Given the description of an element on the screen output the (x, y) to click on. 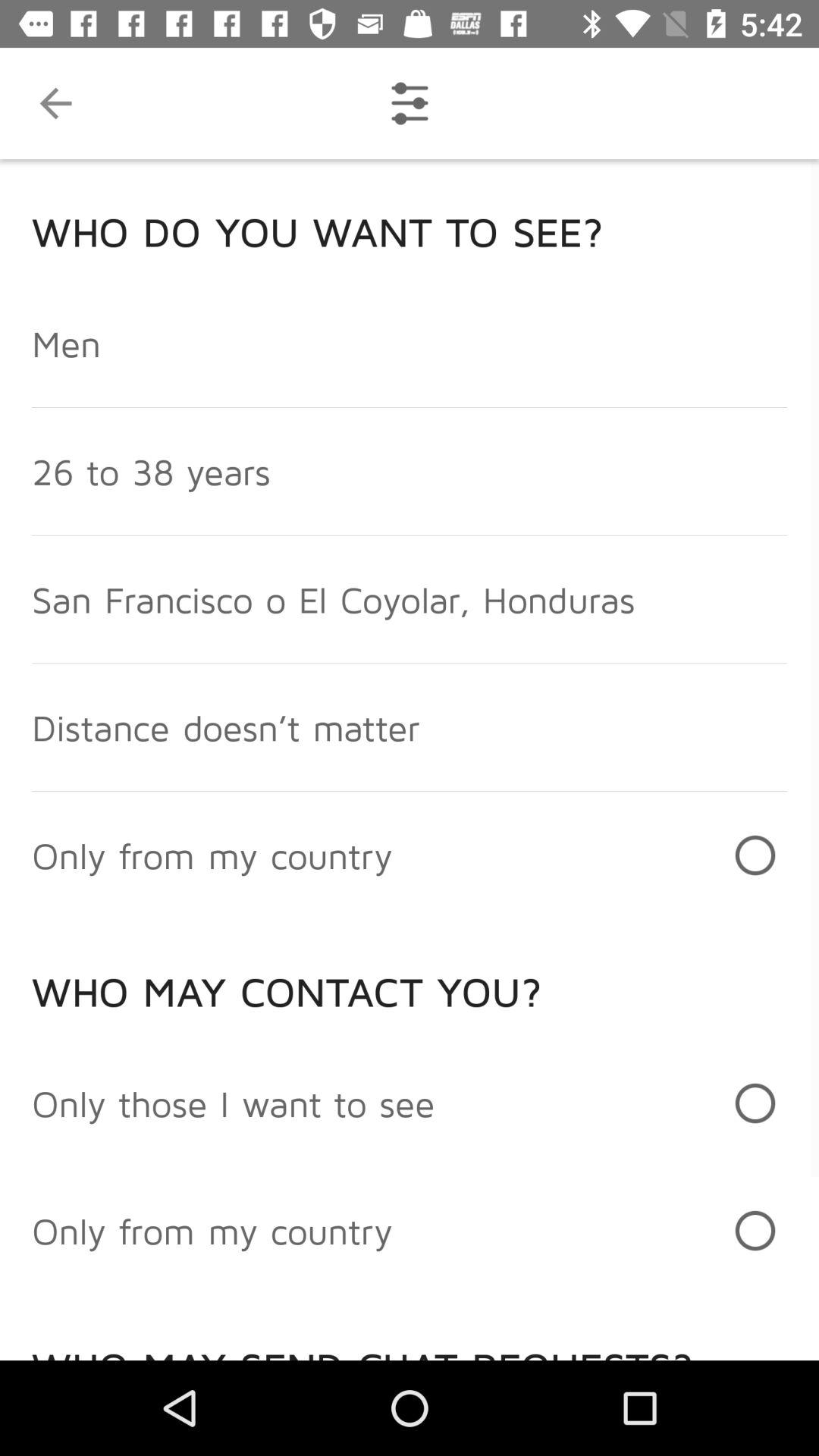
swipe until the only those i icon (233, 1102)
